Given the description of an element on the screen output the (x, y) to click on. 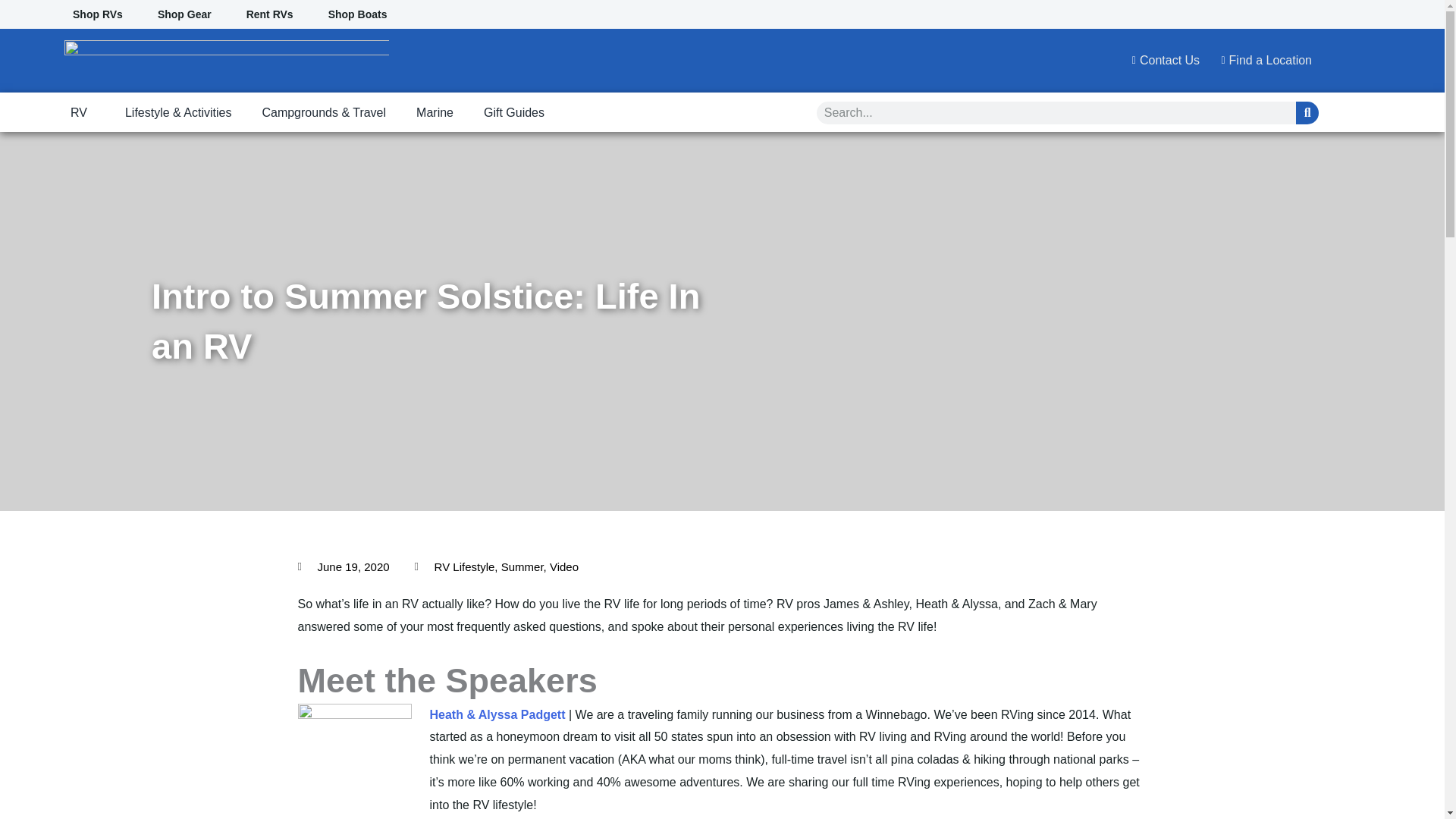
Marine (434, 112)
Rent RVs (269, 14)
Shop Gear (183, 14)
Contact Us (1160, 60)
RV (82, 112)
Shop RVs (97, 14)
Find a Location (1261, 60)
Shop Boats (357, 14)
